Given the description of an element on the screen output the (x, y) to click on. 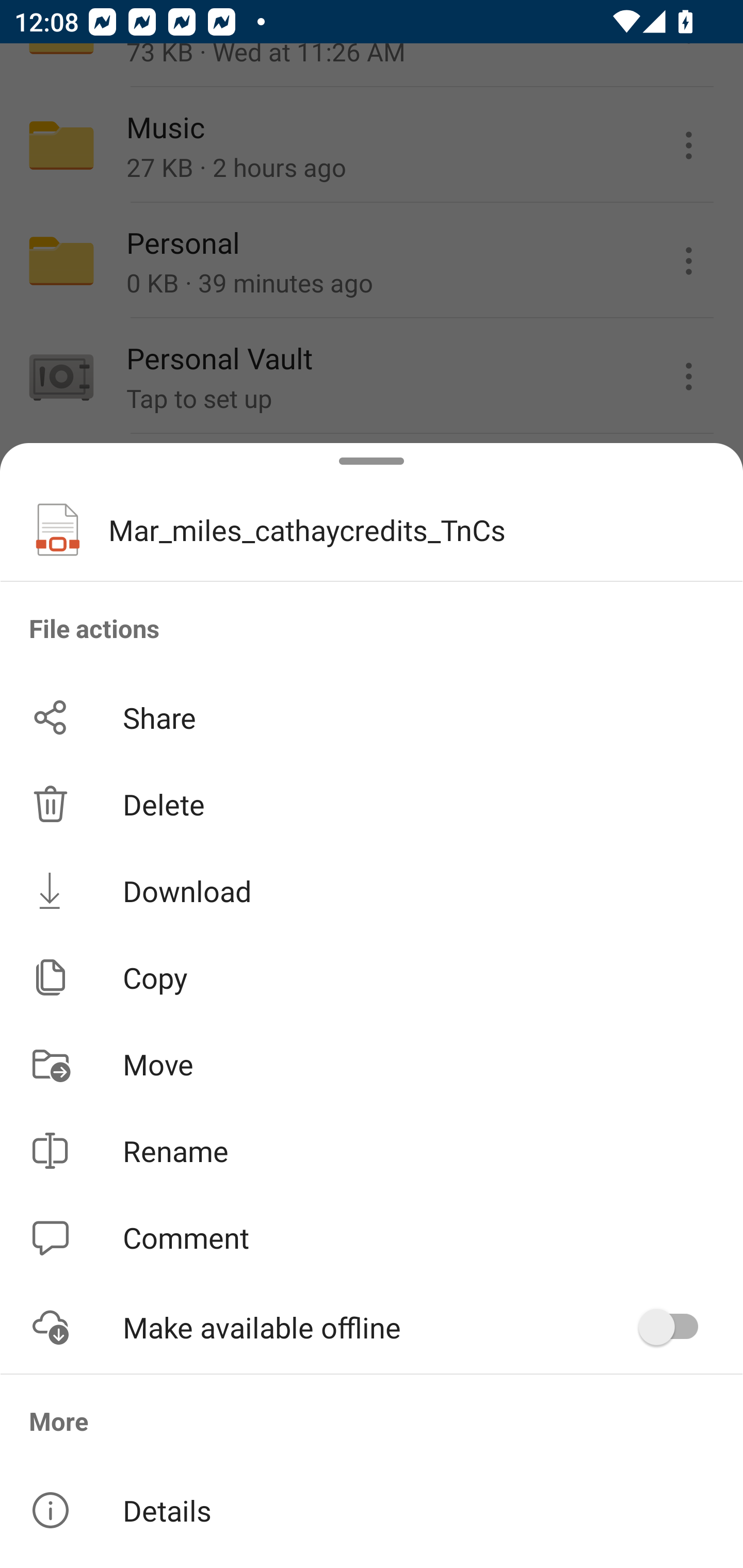
Share button Share (371, 717)
Delete button Delete (371, 803)
Download button Download (371, 890)
Copy button Copy (371, 977)
Move button Move (371, 1063)
Rename button Rename (371, 1150)
Comment button Comment (371, 1237)
Make offline operation (674, 1327)
Details button Details (371, 1510)
